Given the description of an element on the screen output the (x, y) to click on. 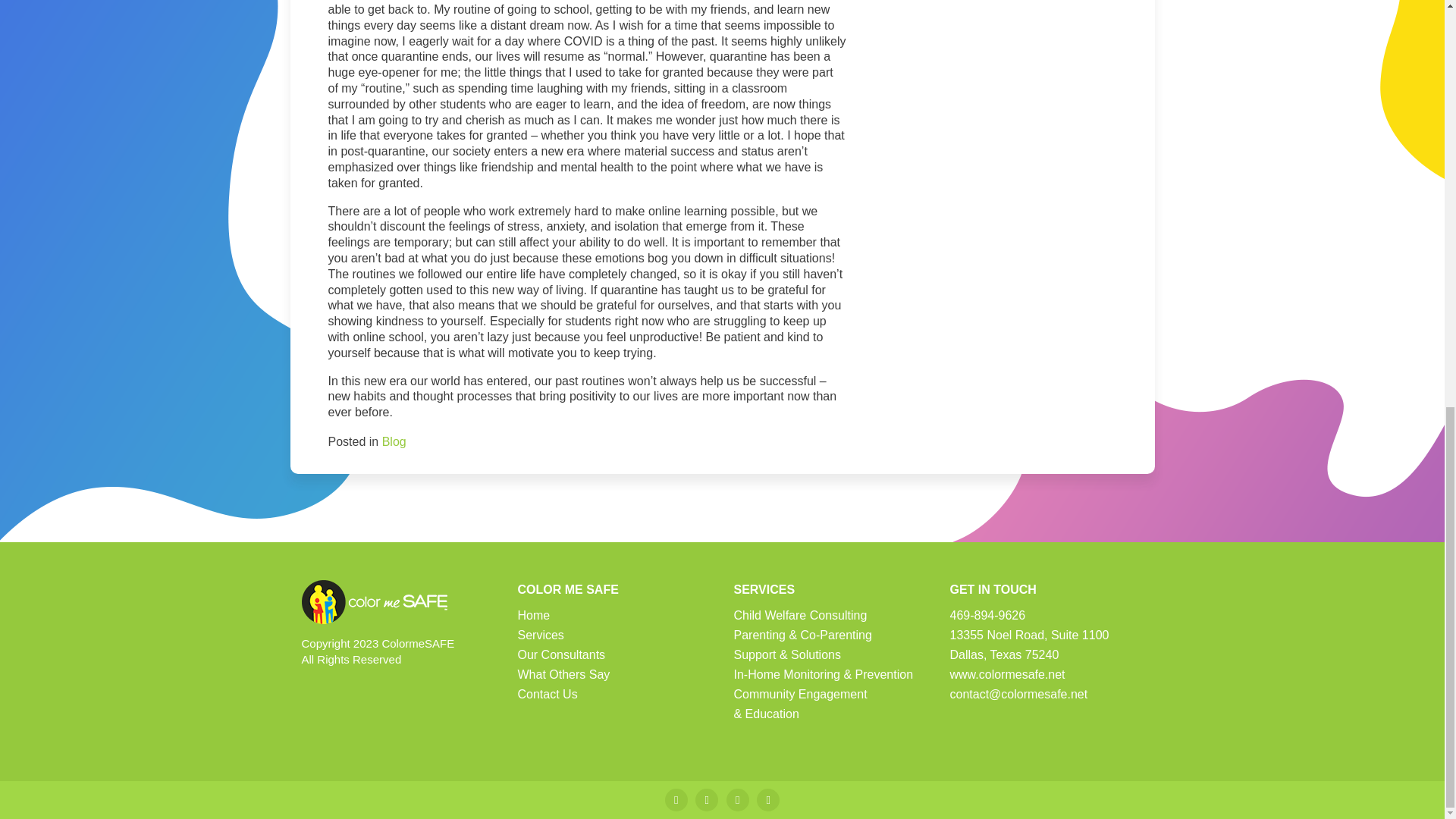
What Others Say (563, 674)
Child Welfare Consulting (800, 615)
Our Consultants (560, 654)
Blog (393, 440)
Home (533, 615)
Contact Us (546, 694)
Services (539, 634)
